Given the description of an element on the screen output the (x, y) to click on. 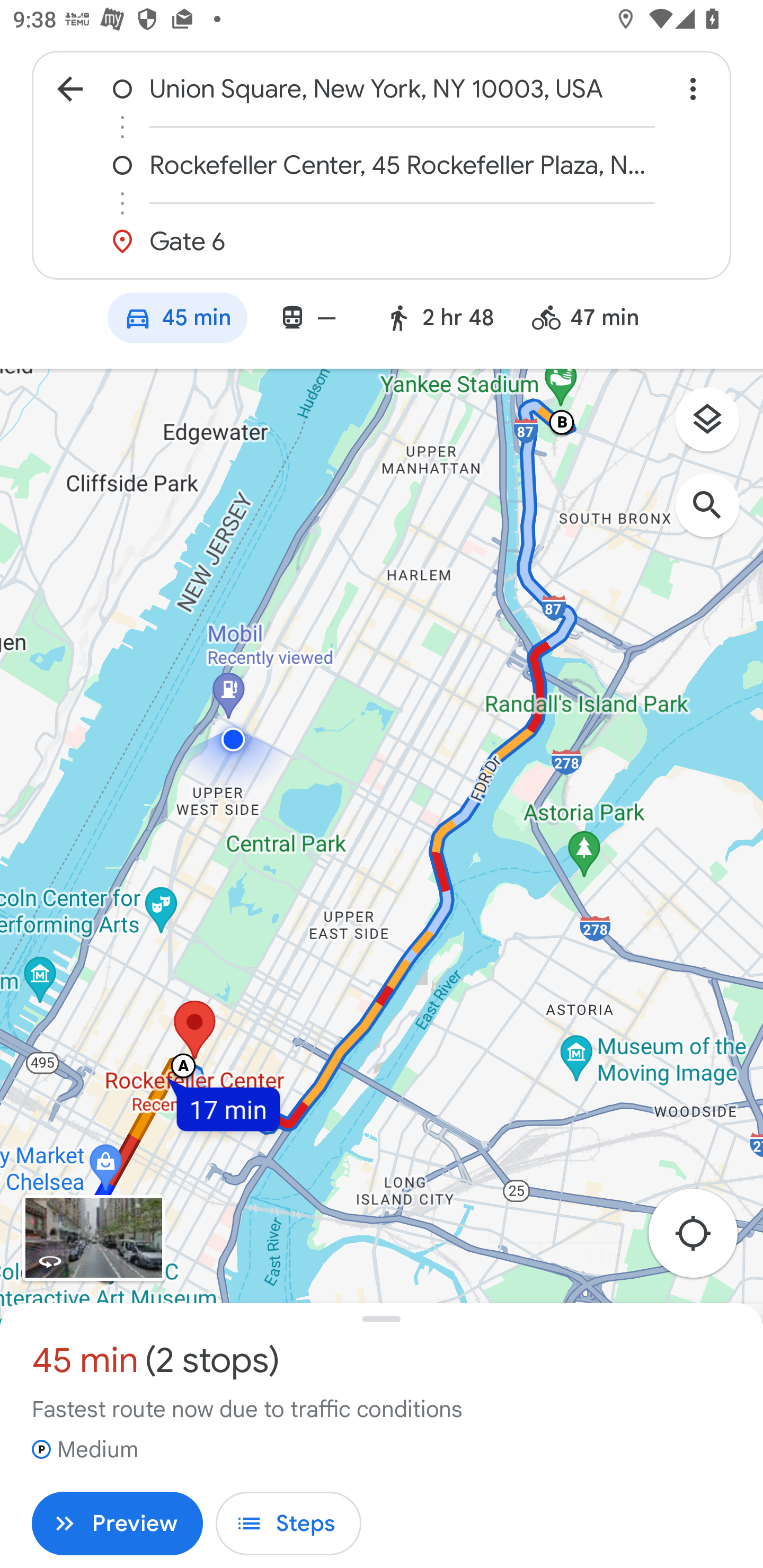
Navigate up (70, 88)
Overflow menu (692, 88)
Gate 6 Destination, Gate 6 (381, 241)
Transit mode: not available — (307, 320)
Walking mode: 2 hr 48 2 hr 48 (438, 320)
Bicycling mode: 47 min 47 min (593, 320)
Layers (716, 425)
Search along route (716, 514)
Re-center map to your location (702, 1238)
Steps Steps Steps (288, 1522)
